Given the description of an element on the screen output the (x, y) to click on. 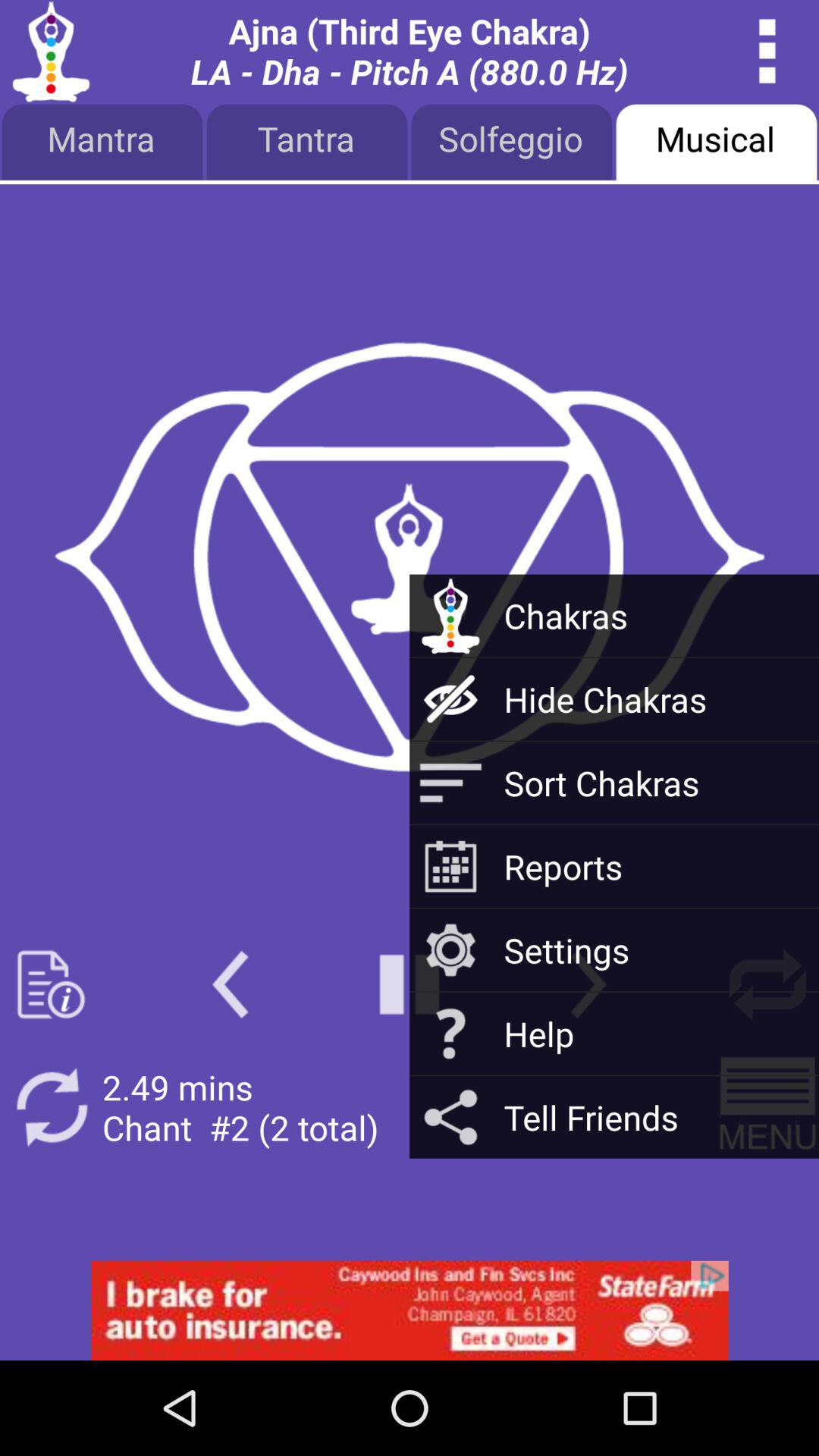
more information (51, 984)
